Given the description of an element on the screen output the (x, y) to click on. 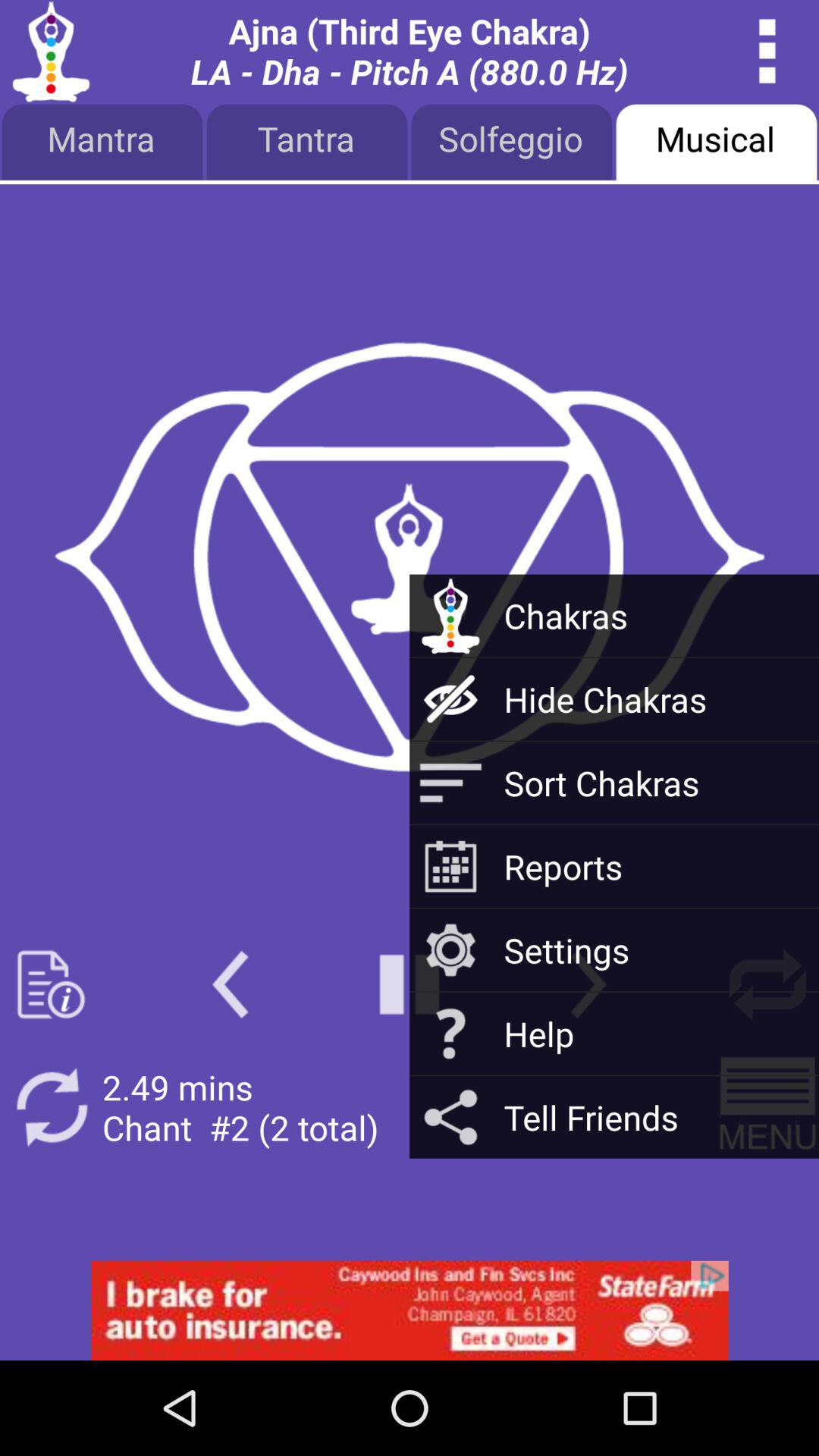
more information (51, 984)
